Given the description of an element on the screen output the (x, y) to click on. 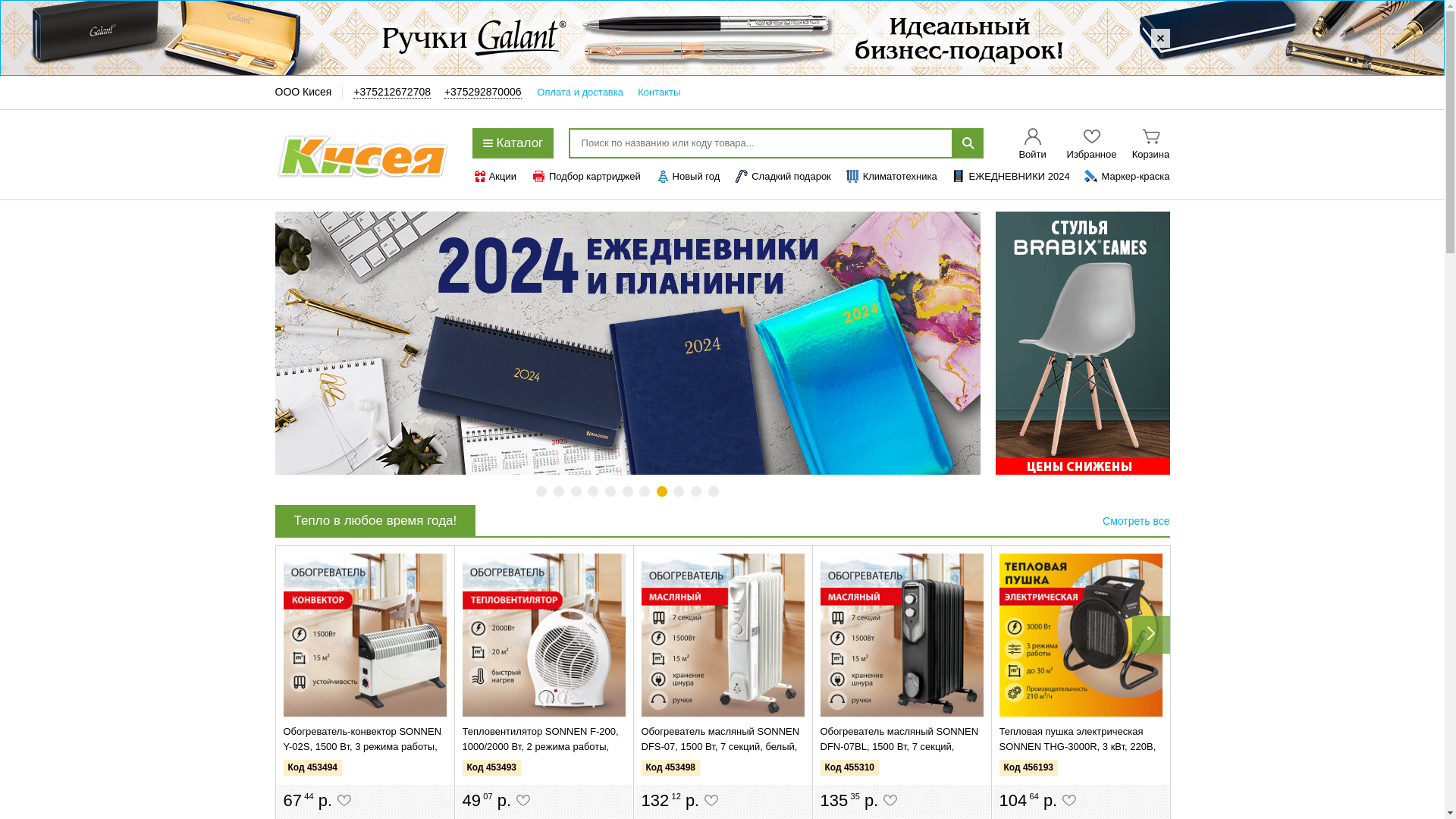
+375212672708 Element type: text (391, 91)
+375292870006 Element type: text (482, 91)
